Given the description of an element on the screen output the (x, y) to click on. 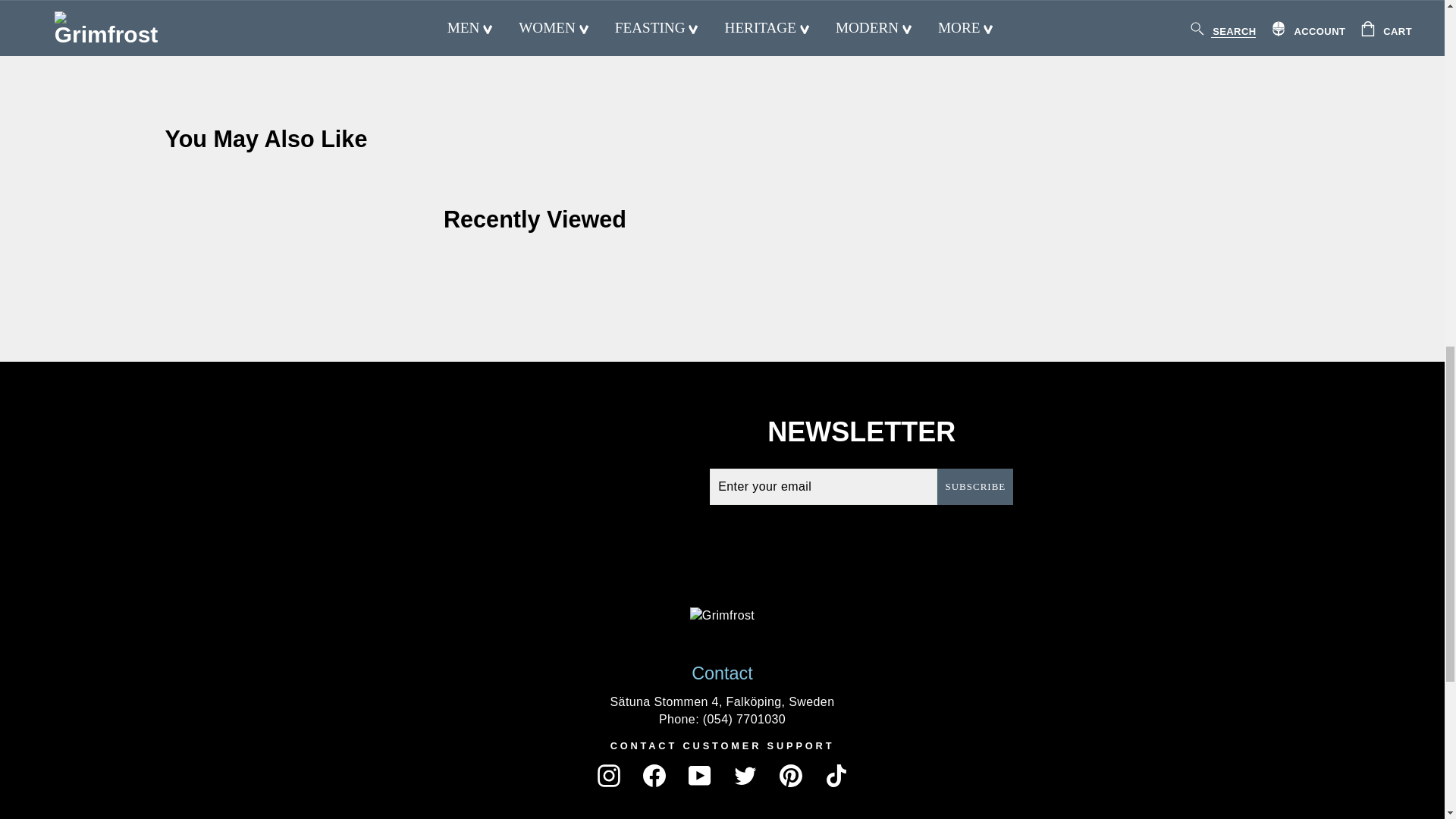
Grimfrost on YouTube (699, 775)
Grimfrost on Instagram (608, 775)
Grimfrost on Pinterest (790, 775)
Grimfrost on Twitter (745, 775)
Grimfrost on TikTok (836, 775)
Grimfrost on Facebook (654, 775)
